Given the description of an element on the screen output the (x, y) to click on. 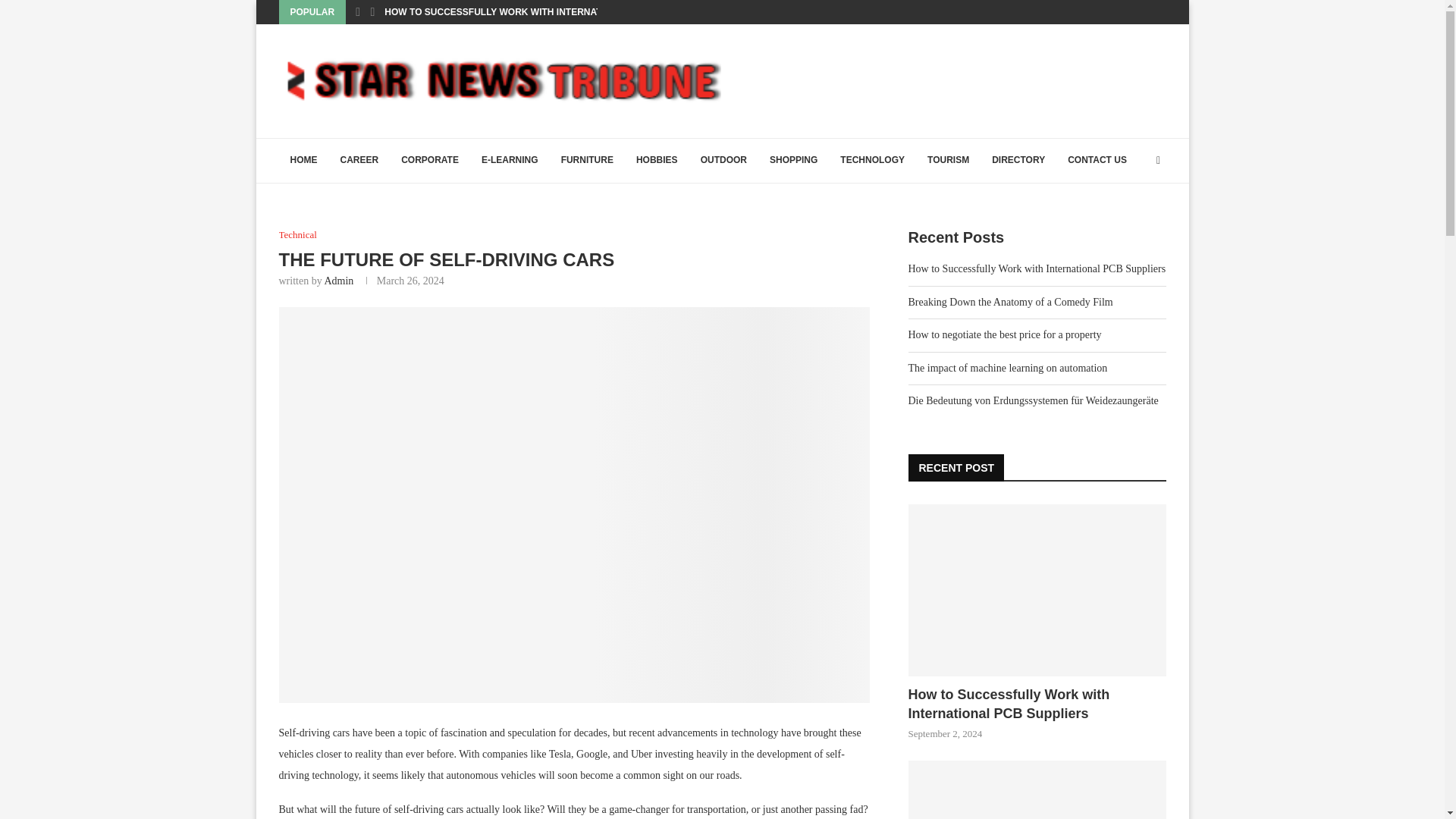
HOME (304, 160)
SHOPPING (793, 160)
Admin (338, 280)
HOW TO SUCCESSFULLY WORK WITH INTERNATIONAL PCB SUPPLIERS (544, 12)
HOBBIES (656, 160)
TECHNOLOGY (871, 160)
CORPORATE (430, 160)
Technical (298, 234)
TOURISM (947, 160)
CONTACT US (1097, 160)
